Given the description of an element on the screen output the (x, y) to click on. 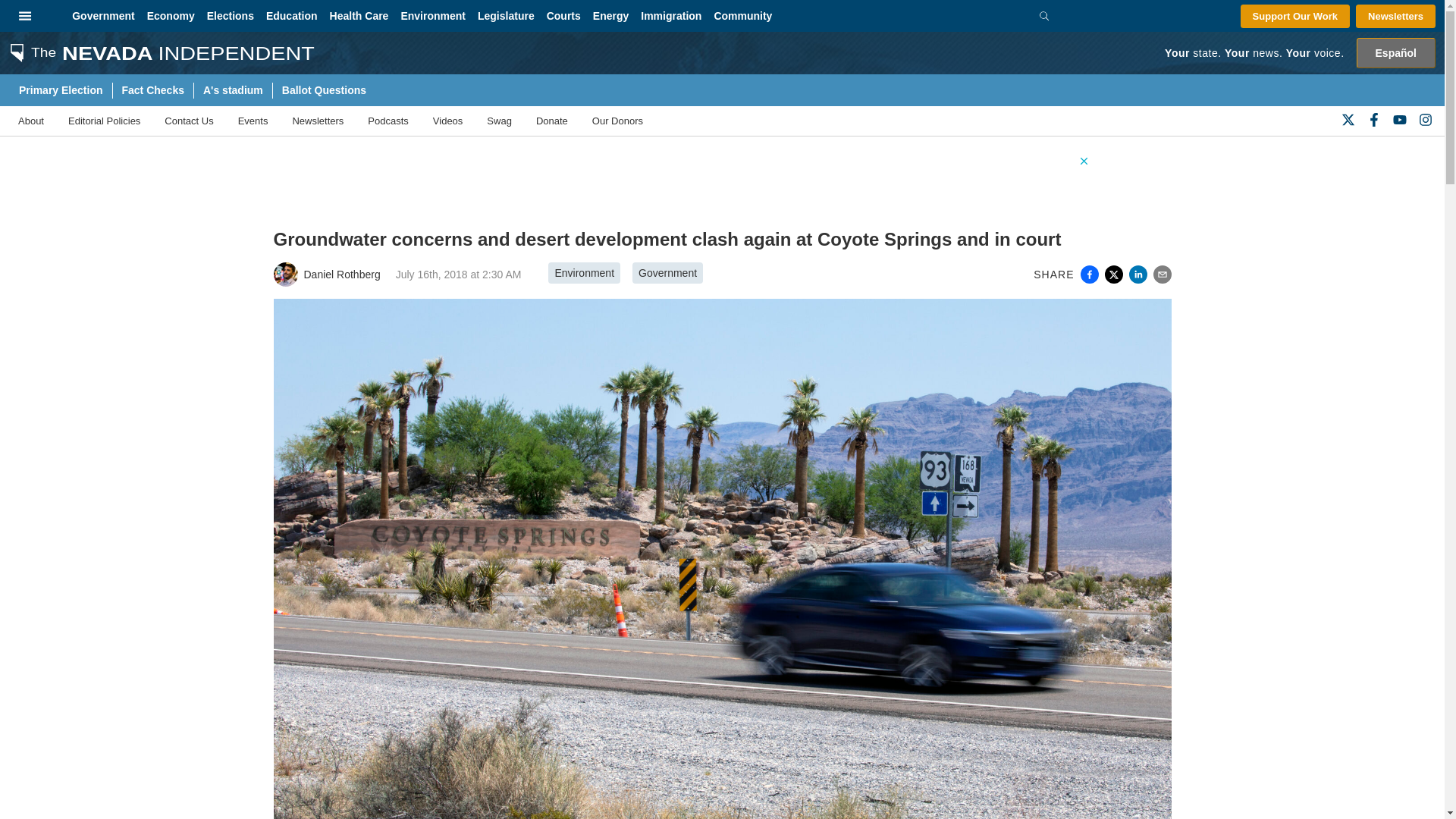
Government (102, 15)
Newsletters (1395, 15)
Legislature (505, 15)
Our Donors (617, 120)
The NEVADA INDEPENDENT (156, 52)
Primary Election (60, 90)
Videos (447, 120)
Ballot Questions (323, 90)
Health Care (358, 15)
Courts (563, 15)
